Given the description of an element on the screen output the (x, y) to click on. 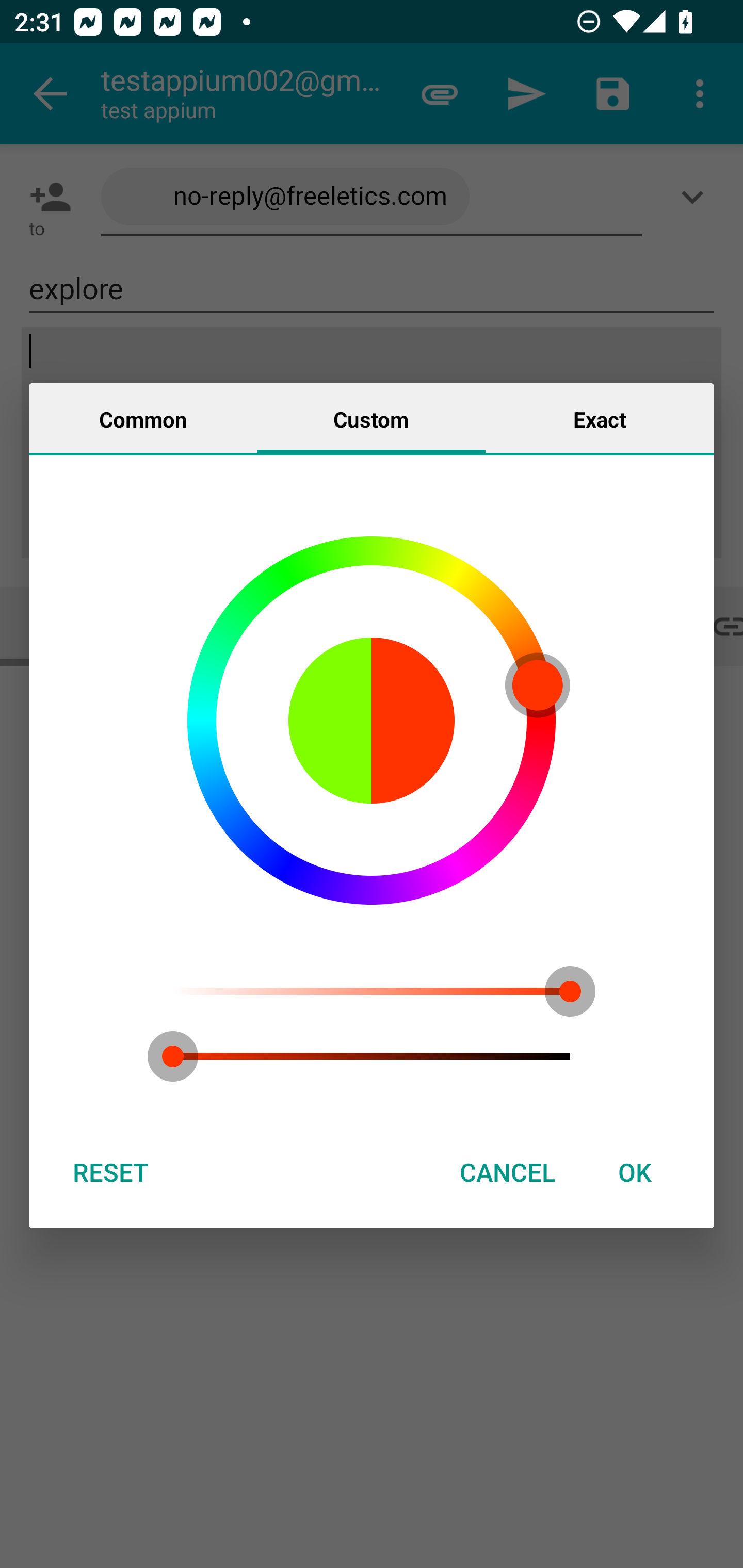
Common (142, 418)
Custom (371, 418)
Exact (599, 418)
RESET (110, 1171)
CANCEL (507, 1171)
OK (634, 1171)
